Given the description of an element on the screen output the (x, y) to click on. 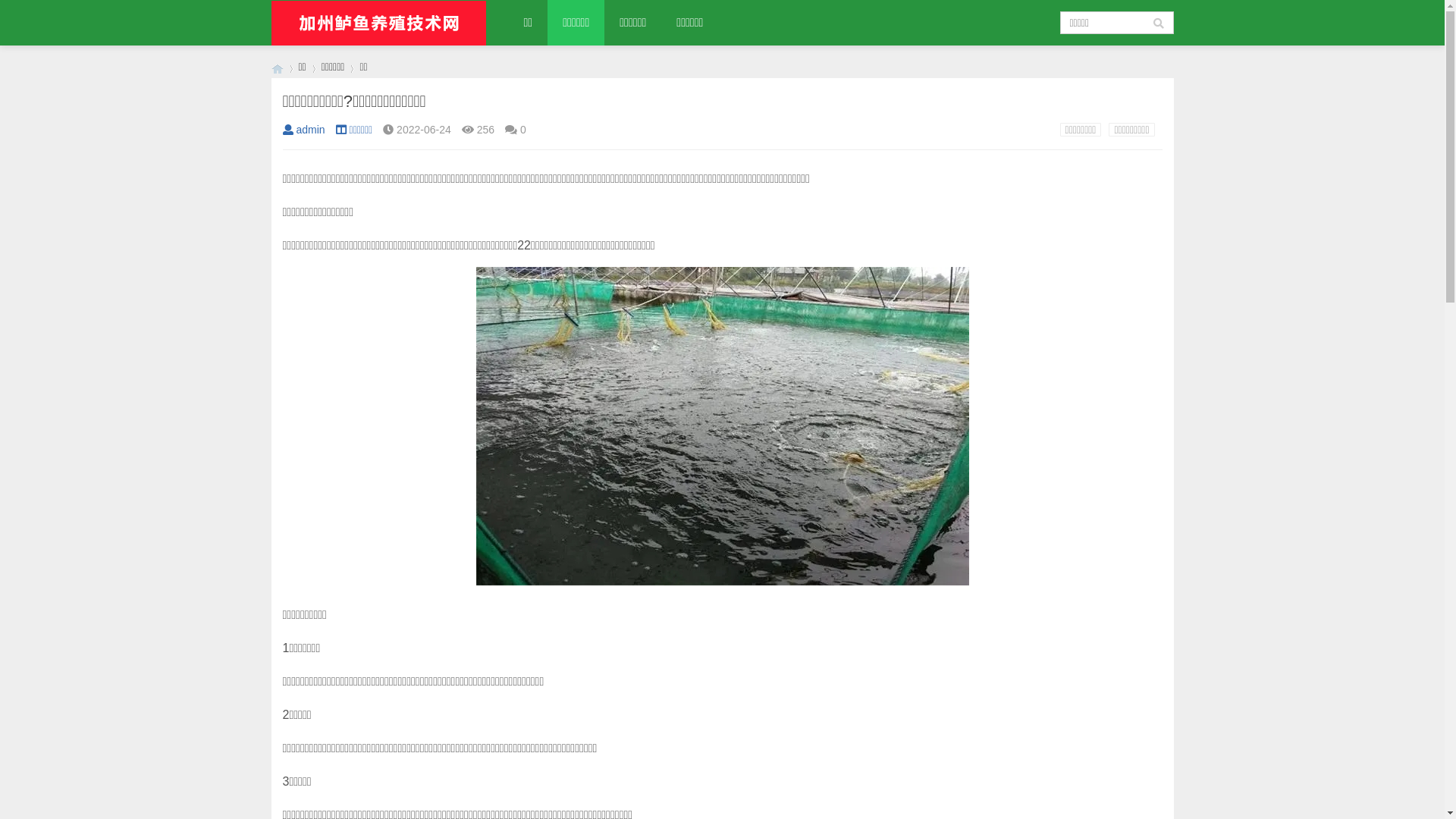
admin Element type: text (303, 129)
